Given the description of an element on the screen output the (x, y) to click on. 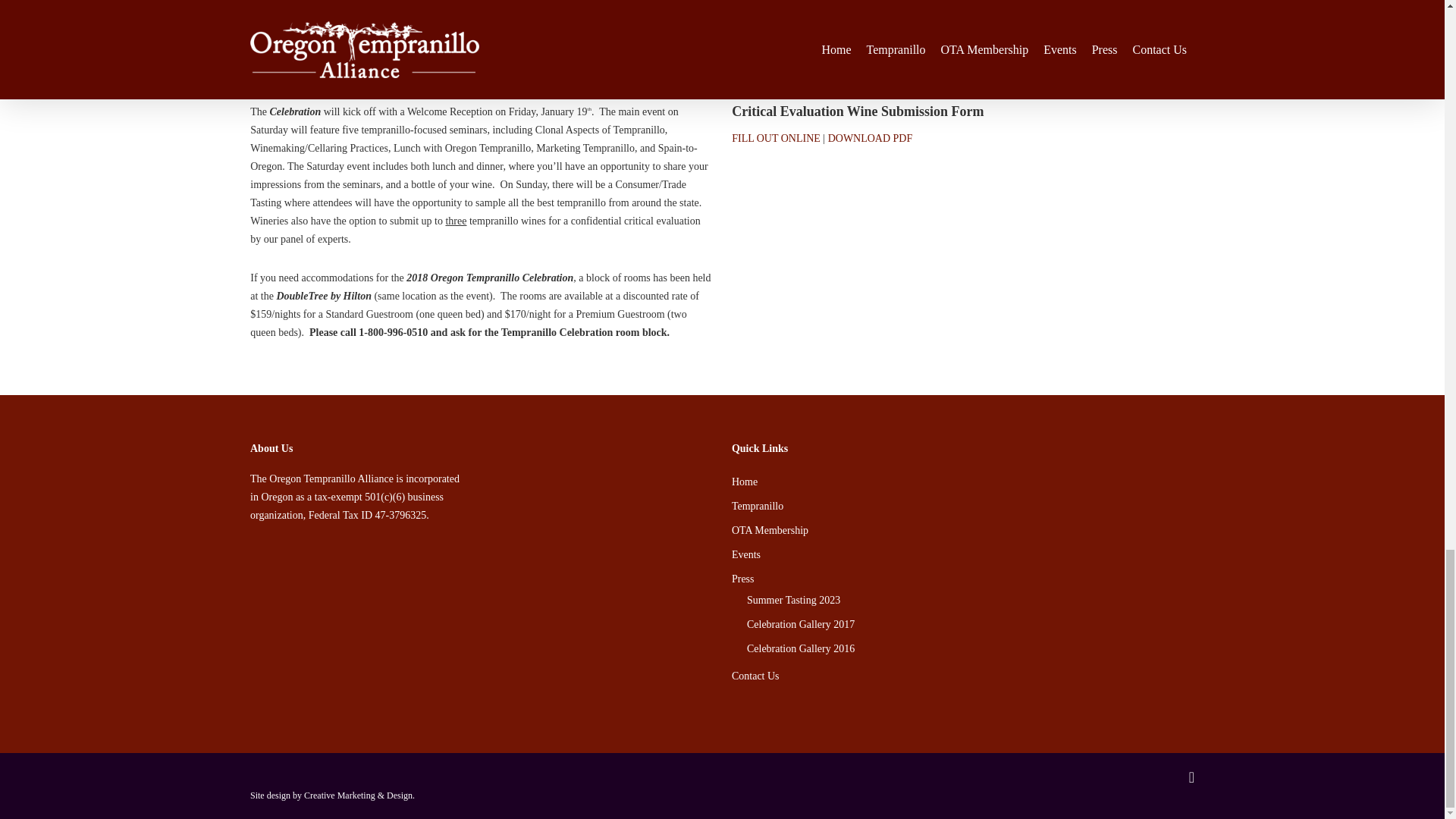
DOWNLOAD PDF (870, 138)
FILL OUT ONLINE (776, 138)
DOWNLOAD PDF (870, 69)
Home (962, 482)
Tempranillo (962, 506)
Celebration Gallery 2017 (969, 624)
Events (962, 555)
Press (962, 579)
FILL OUT ONLINE (776, 69)
Contact Us (962, 676)
Celebration Gallery 2016 (969, 648)
Summer Tasting 2023 (969, 600)
OTA Membership (962, 530)
